Given the description of an element on the screen output the (x, y) to click on. 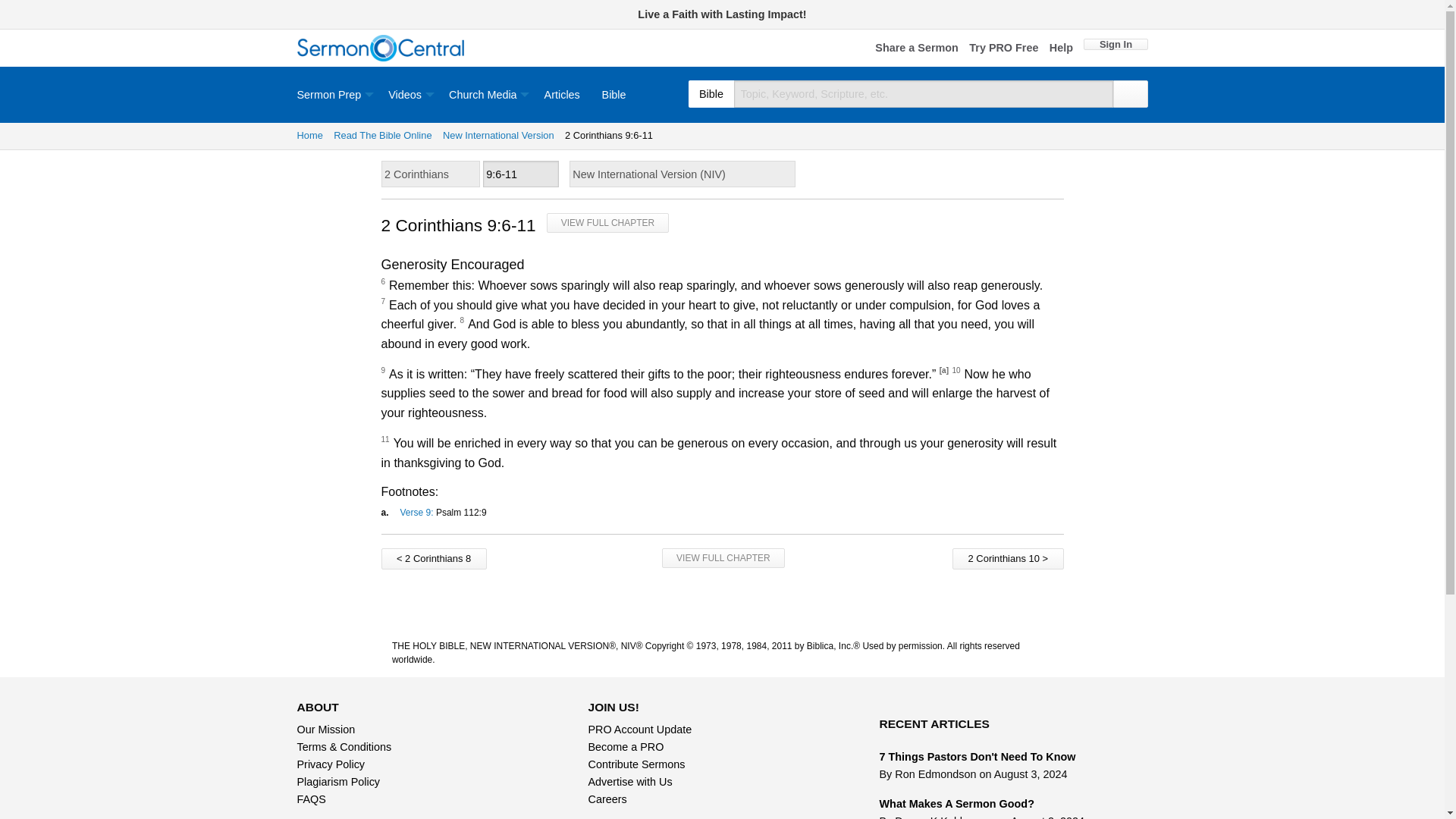
Try PRO Free (1003, 48)
Bible (614, 94)
9:6-11 (521, 173)
Church Media (486, 94)
Videos (407, 94)
Sign In (1115, 43)
Sermon Prep (337, 94)
SermonCentral.com (380, 48)
Share a Sermon (916, 48)
Articles (561, 94)
